Given the description of an element on the screen output the (x, y) to click on. 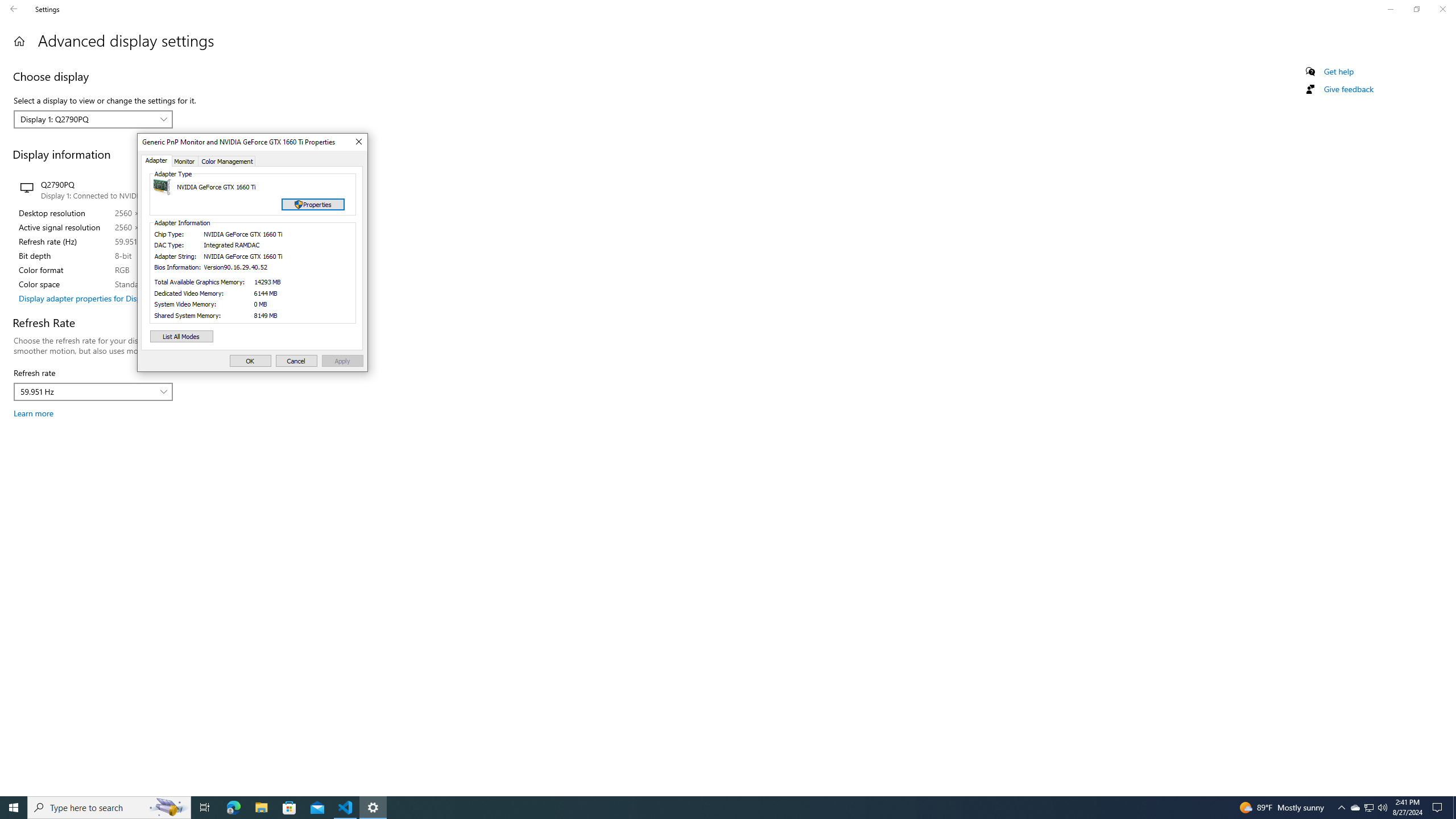
Running applications (717, 807)
Apply (342, 360)
Properties (313, 204)
List All Modes (181, 336)
Adapter (156, 160)
